Given the description of an element on the screen output the (x, y) to click on. 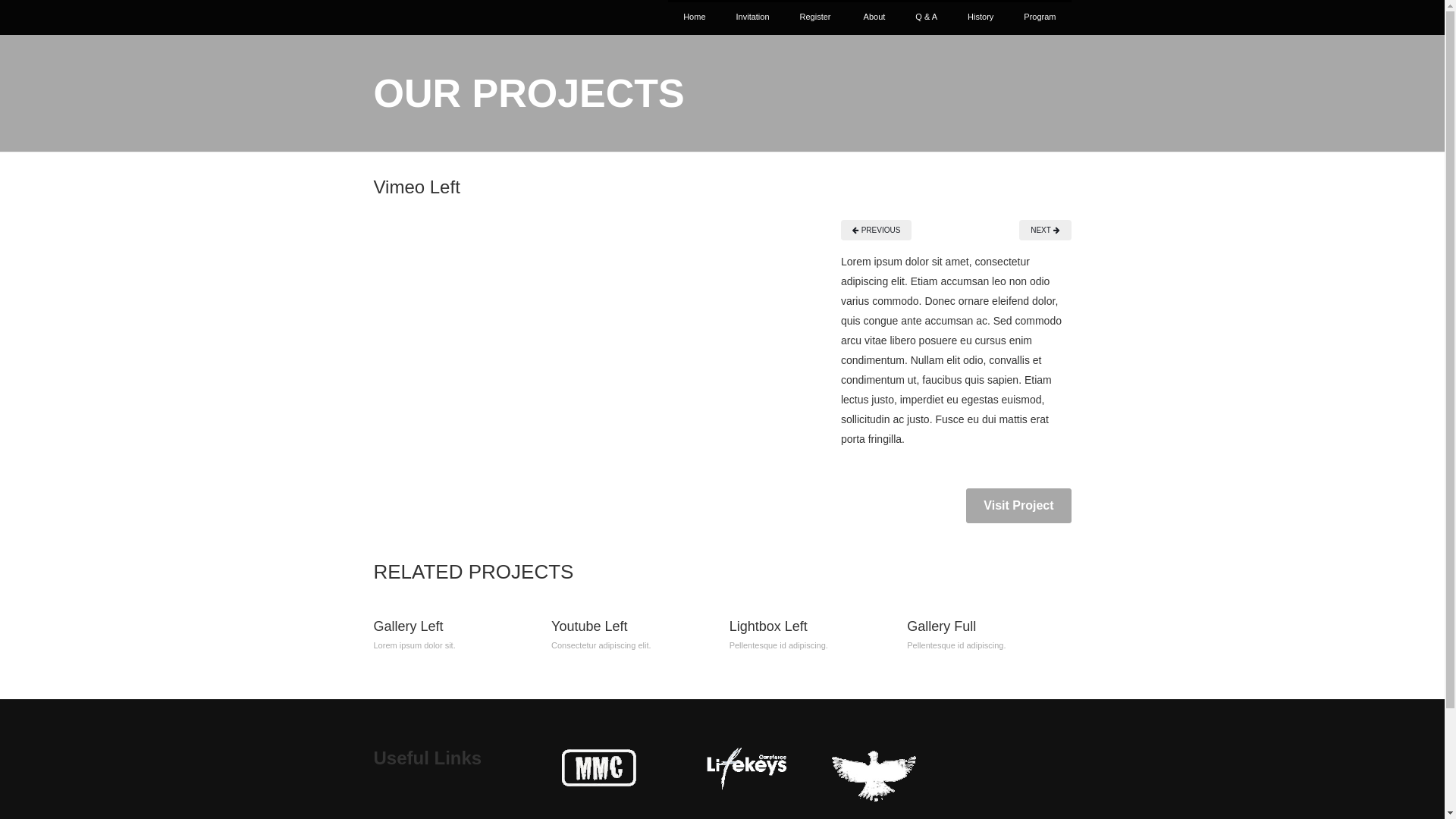
  Element type: text (847, 17)
NEXT Element type: text (1044, 229)
History Element type: text (980, 17)
Visit Project Element type: text (1018, 505)
Home Element type: text (694, 17)
Gallery Left Element type: text (407, 625)
About Element type: text (874, 17)
PREVIOUS Element type: text (875, 229)
Register Element type: text (815, 17)
Program Element type: text (1039, 17)
Q & A Element type: text (926, 17)
Gallery Full Element type: text (940, 625)
Lightbox Left Element type: text (768, 625)
Invitation Element type: text (752, 17)
Youtube Left Element type: text (589, 625)
